Given the description of an element on the screen output the (x, y) to click on. 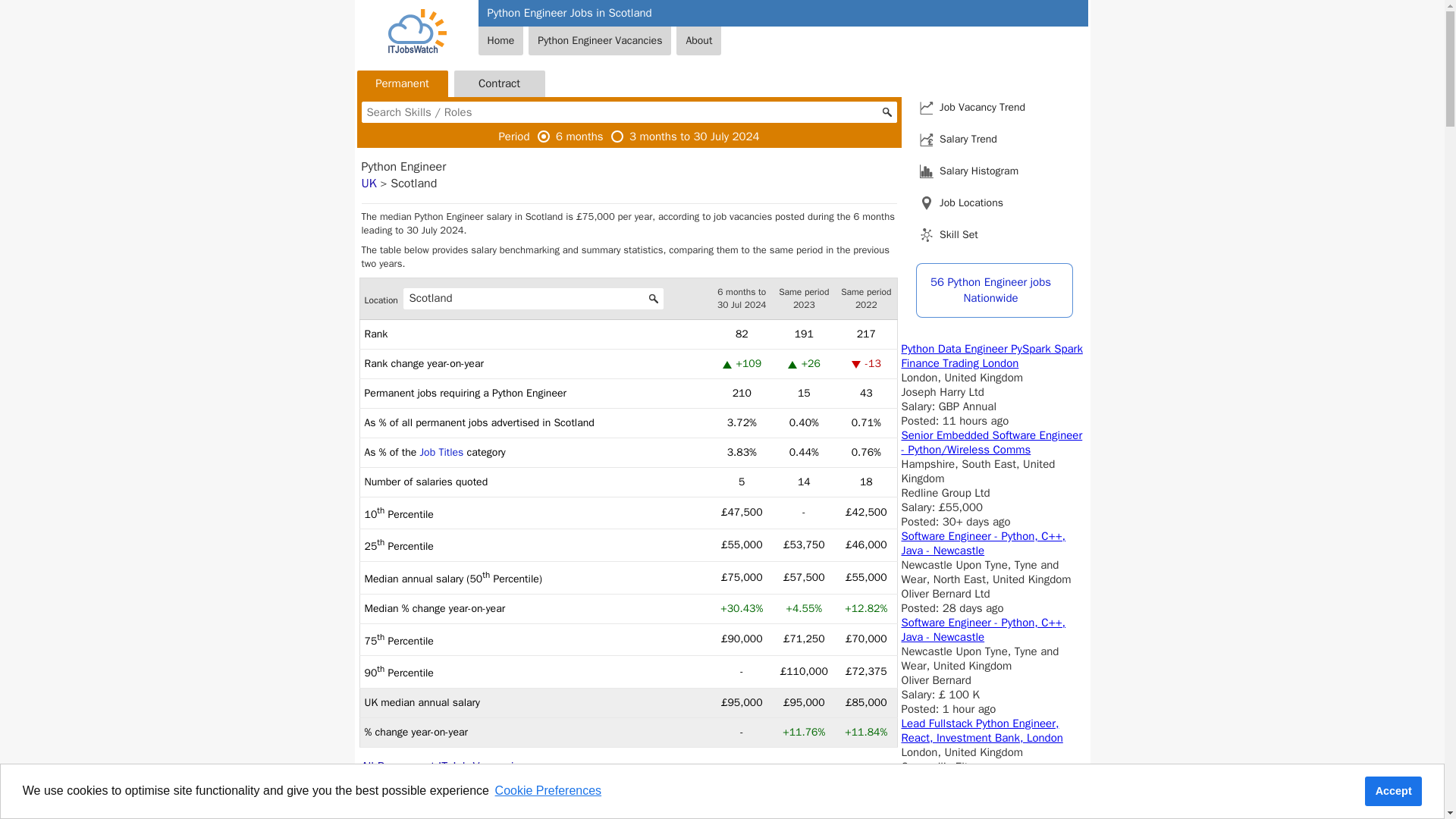
Job Titles (442, 451)
Scotland (533, 298)
Cookie Preferences (548, 790)
Down -13 places (855, 365)
Contract (498, 83)
Permanent (401, 83)
View statistics for a Python Engineer in the UK (368, 183)
UK (368, 183)
Home (499, 40)
Up 26 places (443, 775)
Up 109 places (791, 365)
Accept (727, 365)
Python Engineer vacancies in Scotland (1393, 791)
Python Engineer Vacancies (599, 40)
